Given the description of an element on the screen output the (x, y) to click on. 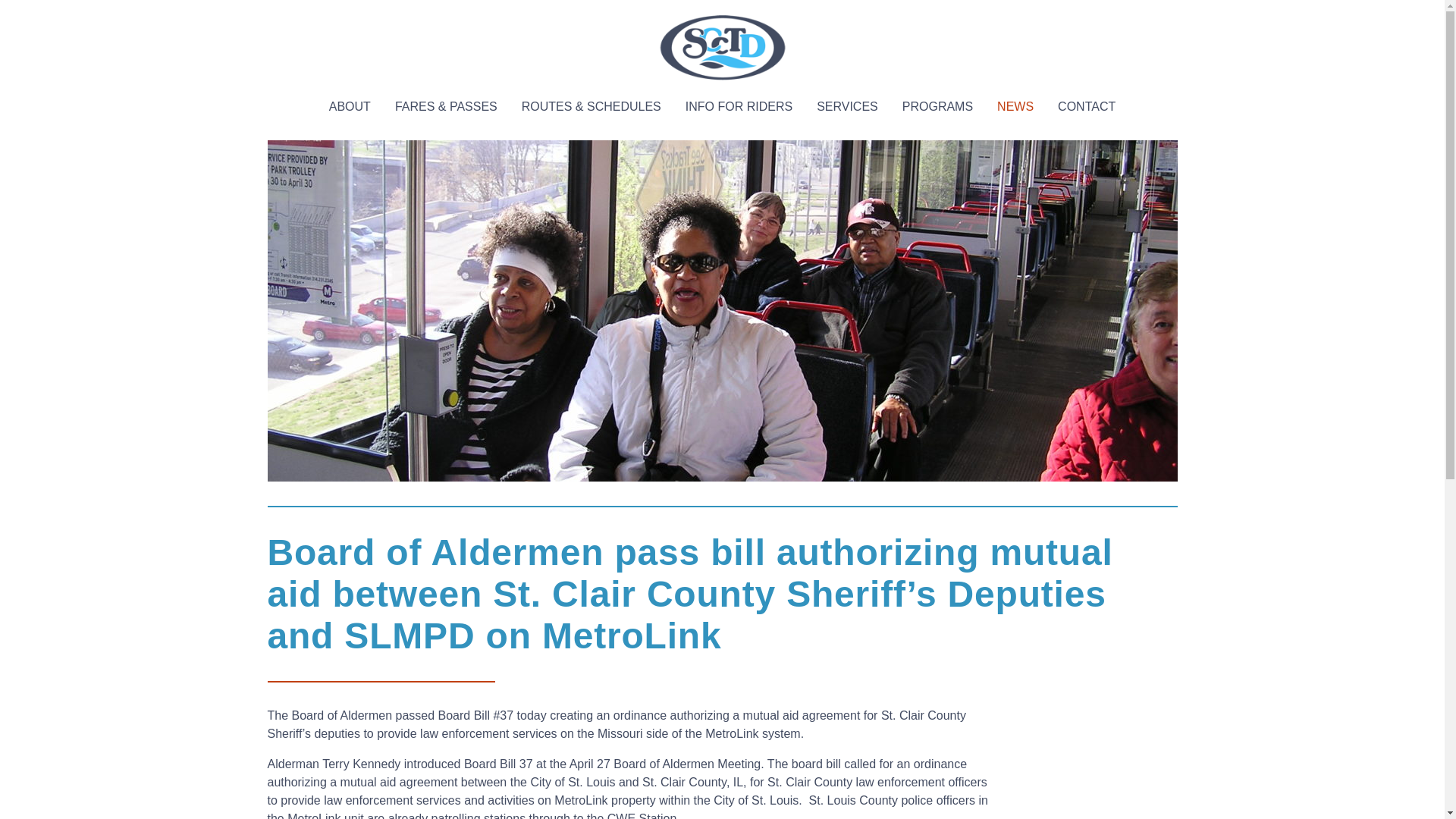
INFO FOR RIDERS (738, 106)
Info for Riders (738, 106)
ABOUT (350, 106)
Services (846, 106)
PROGRAMS (937, 106)
NEWS (1015, 106)
SERVICES (846, 106)
About (350, 106)
CONTACT (1086, 106)
